Given the description of an element on the screen output the (x, y) to click on. 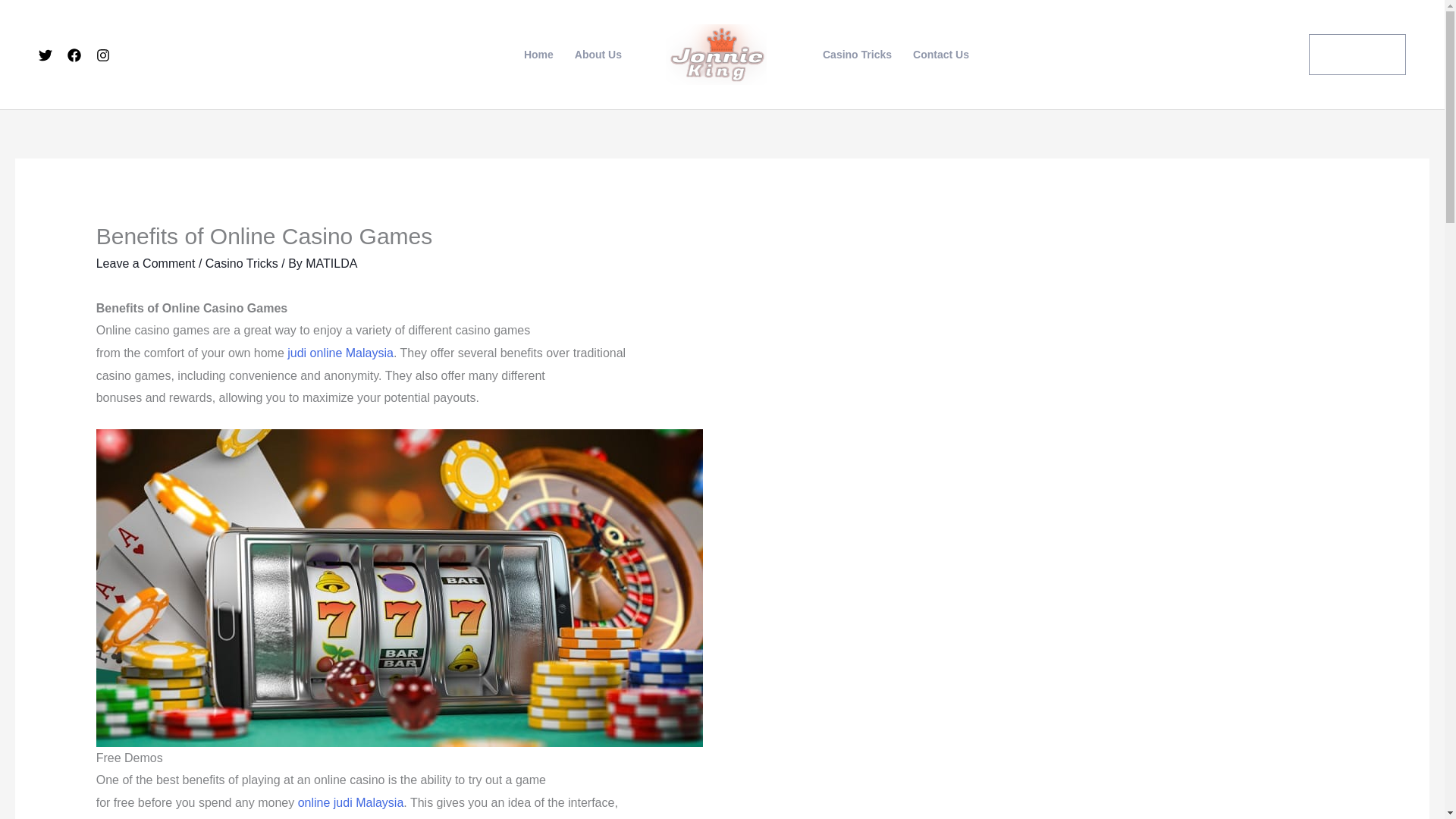
online judi Malaysia (351, 802)
MATILDA (330, 263)
About Us (597, 54)
Contact Us (940, 54)
Leave a Comment (145, 263)
View all posts by MATILDA (330, 263)
Registration (1357, 54)
Casino Tricks (857, 54)
Casino Tricks (241, 263)
Home (538, 54)
